Given the description of an element on the screen output the (x, y) to click on. 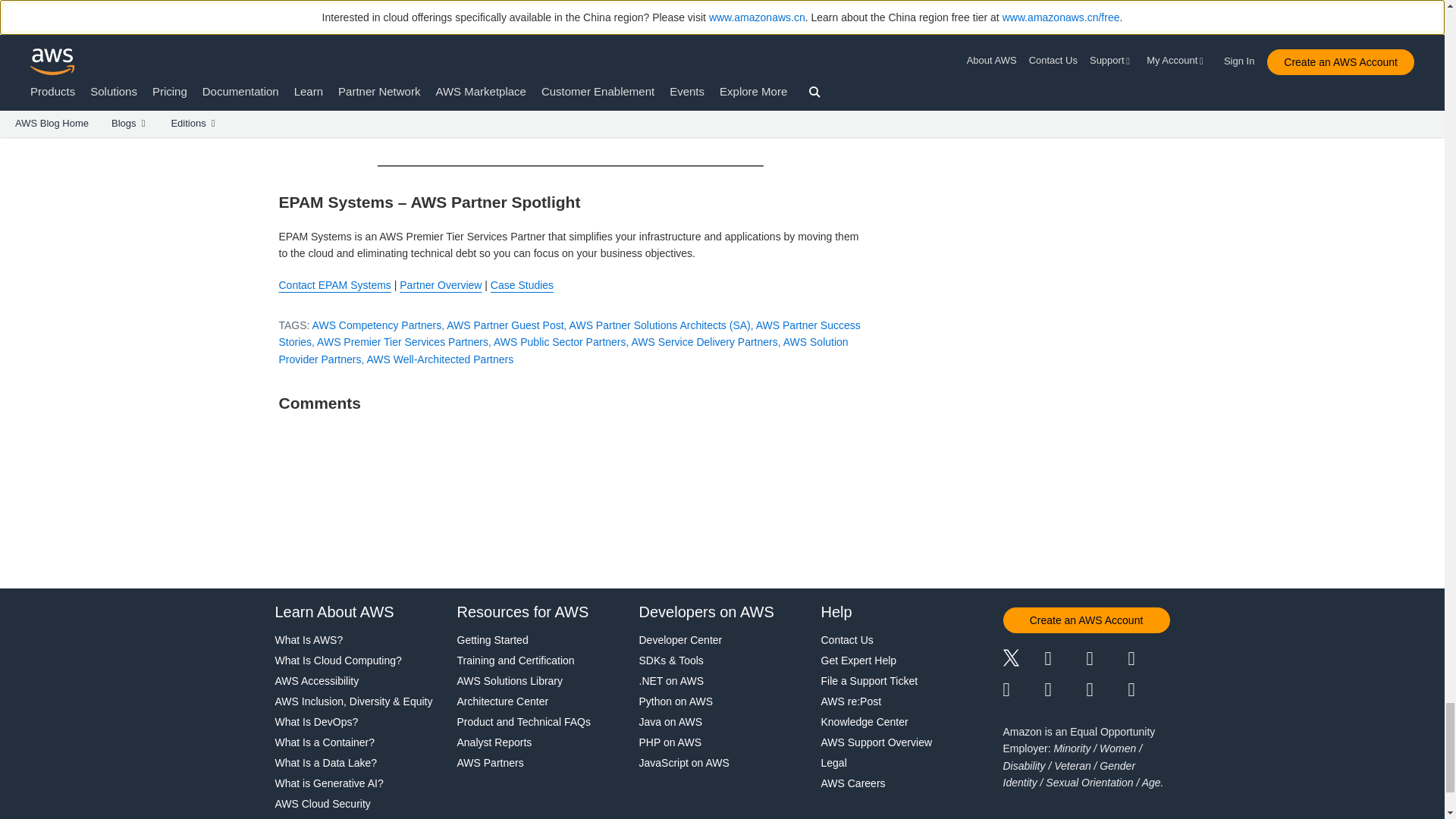
Facebook (1065, 659)
Twitch (1023, 690)
Linkedin (1106, 659)
Twitter (1023, 659)
Podcast (1106, 690)
YouTube (1065, 690)
Instagram (1149, 659)
